Given the description of an element on the screen output the (x, y) to click on. 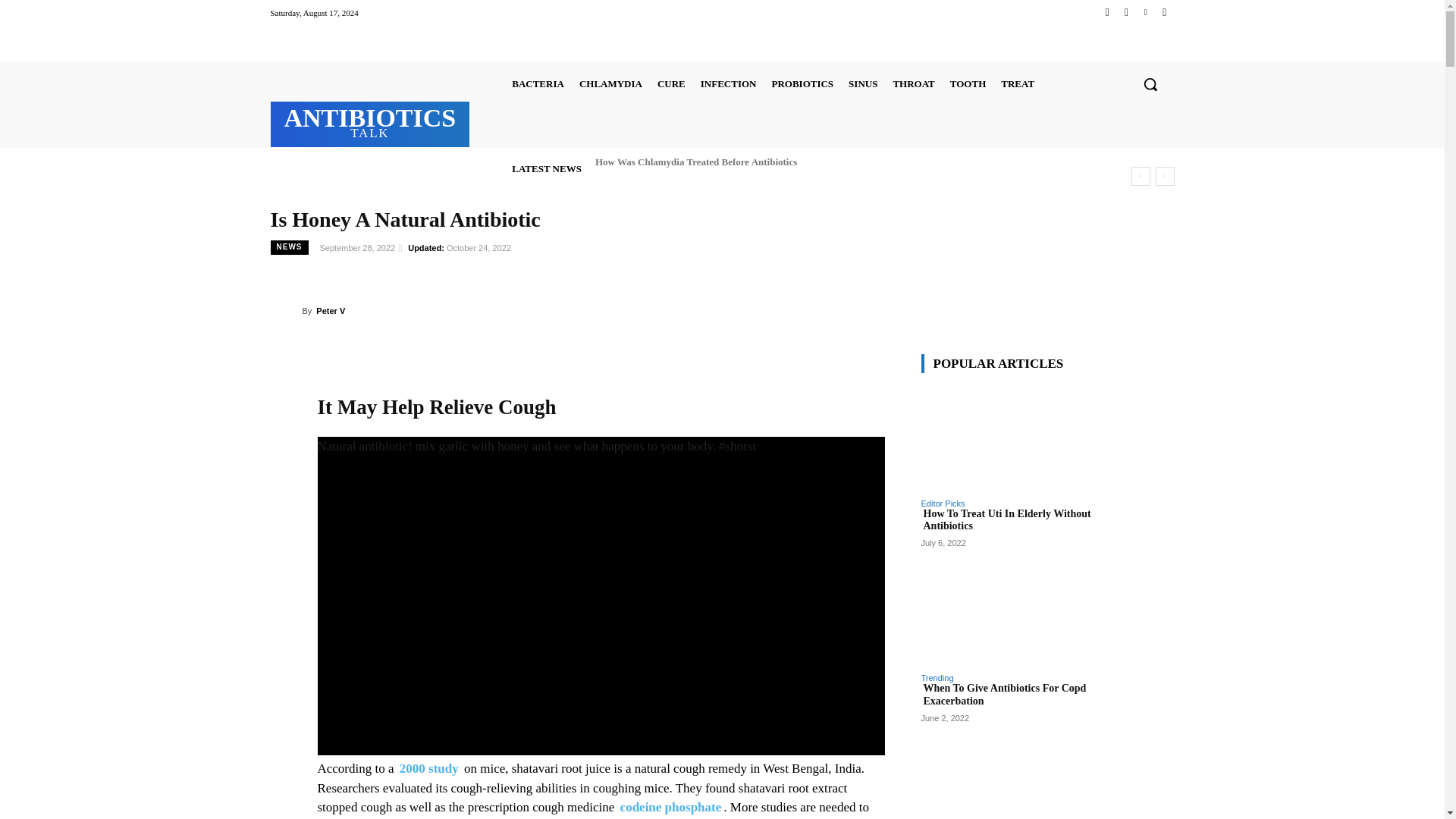
CHLAMYDIA (610, 83)
Facebook (1106, 12)
BACTERIA (537, 83)
Instagram (1125, 12)
